Given the description of an element on the screen output the (x, y) to click on. 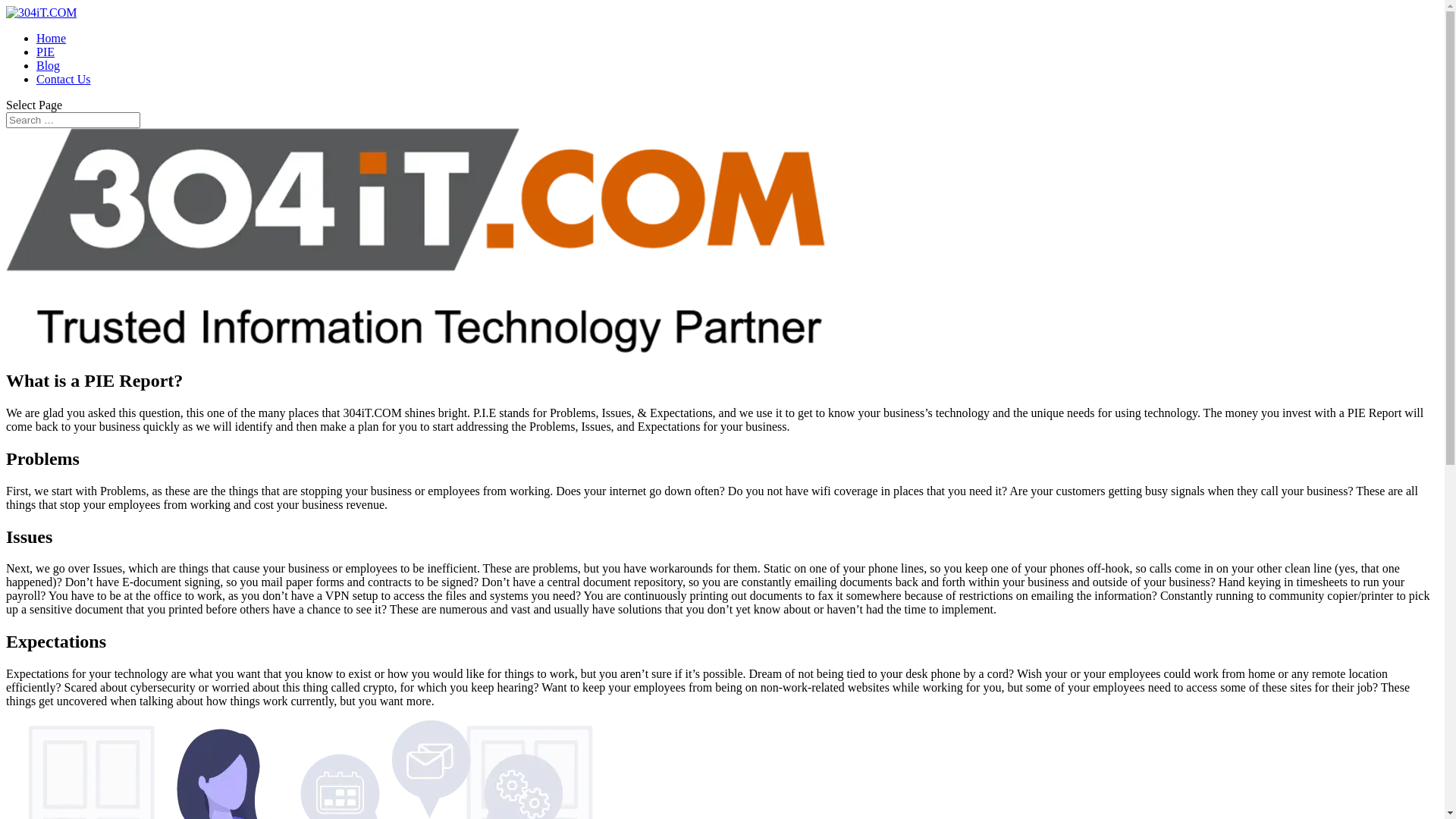
304IT-Trim-1200 Element type: hover (415, 240)
Blog Element type: text (47, 65)
Home Element type: text (50, 37)
Search for: Element type: hover (73, 120)
Contact Us Element type: text (63, 78)
PIE Element type: text (45, 51)
